Given the description of an element on the screen output the (x, y) to click on. 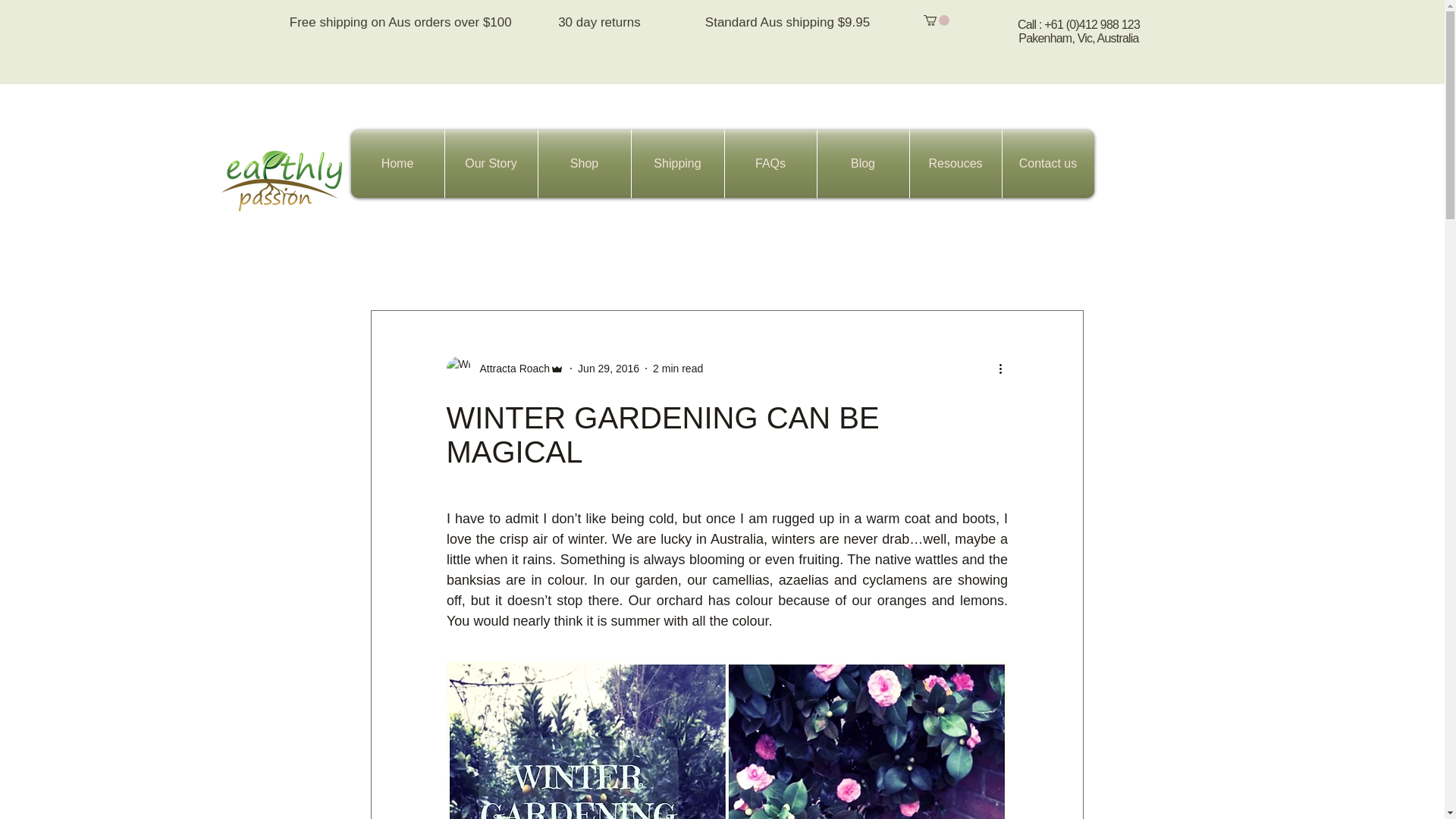
Contact us (1048, 163)
Attracta Roach (510, 368)
Our Story (490, 163)
Garden (871, 264)
Shipping (676, 163)
Reducing Waste (592, 264)
Shop (584, 163)
Eco-Friendly cleaning (972, 264)
Jun 29, 2016 (608, 368)
Home (397, 163)
Resouces (955, 163)
2 min read (677, 368)
FAQs (770, 163)
Blog (862, 163)
All Posts (391, 264)
